Given the description of an element on the screen output the (x, y) to click on. 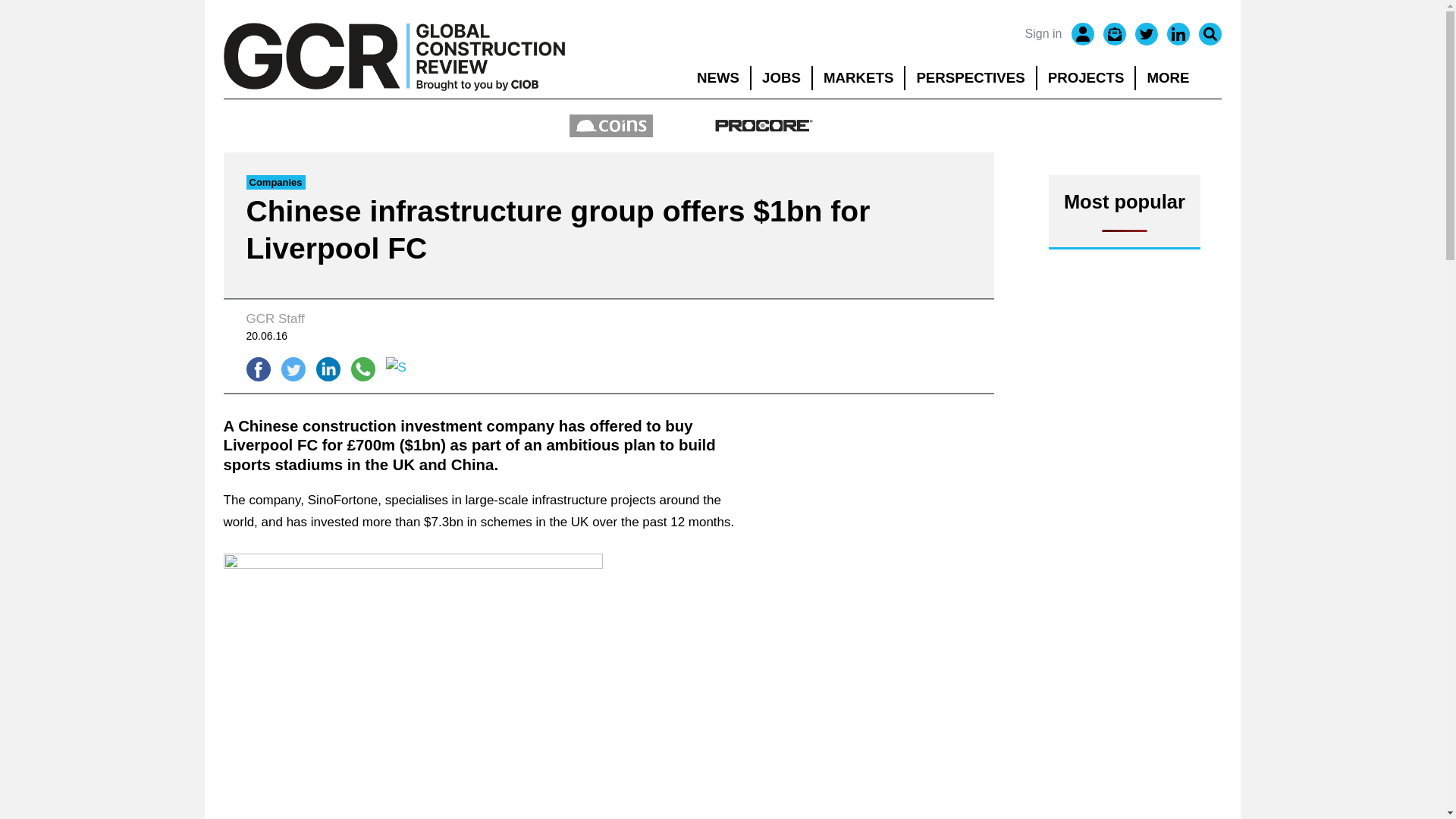
NEWS (717, 78)
MORE (1178, 78)
Sign in (1043, 34)
Send email (397, 369)
Tweet (292, 369)
MARKETS (858, 78)
Share on Facebook (257, 369)
PROJECTS (1085, 78)
Share on LinkedIn (327, 369)
JOBS (780, 78)
